Given the description of an element on the screen output the (x, y) to click on. 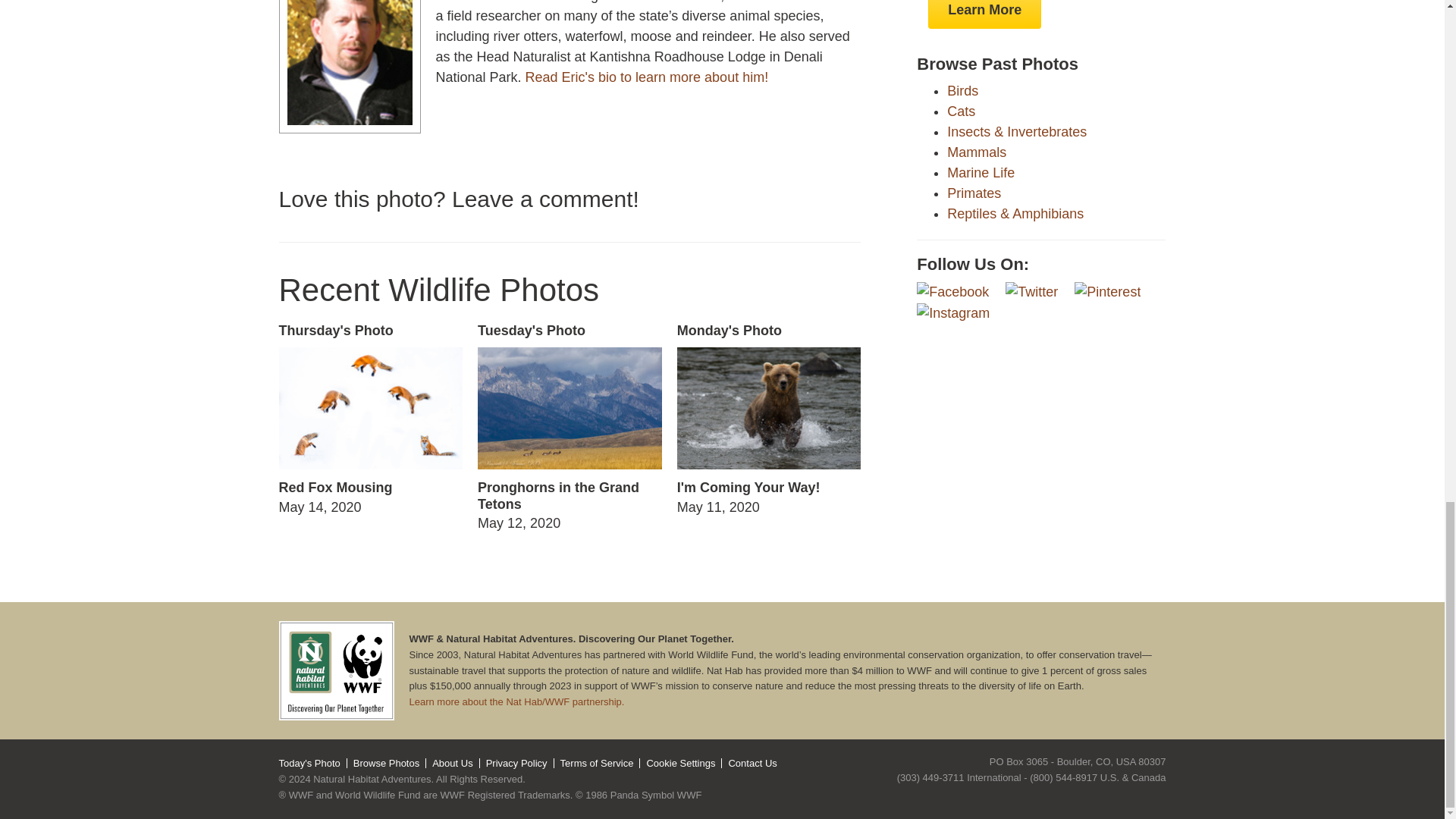
Read Eric's bio to learn more about him! (646, 77)
Birds (962, 90)
Learn More (984, 14)
Mammals (370, 419)
Marine Life (976, 151)
Primates (980, 172)
Cats (974, 192)
